Given the description of an element on the screen output the (x, y) to click on. 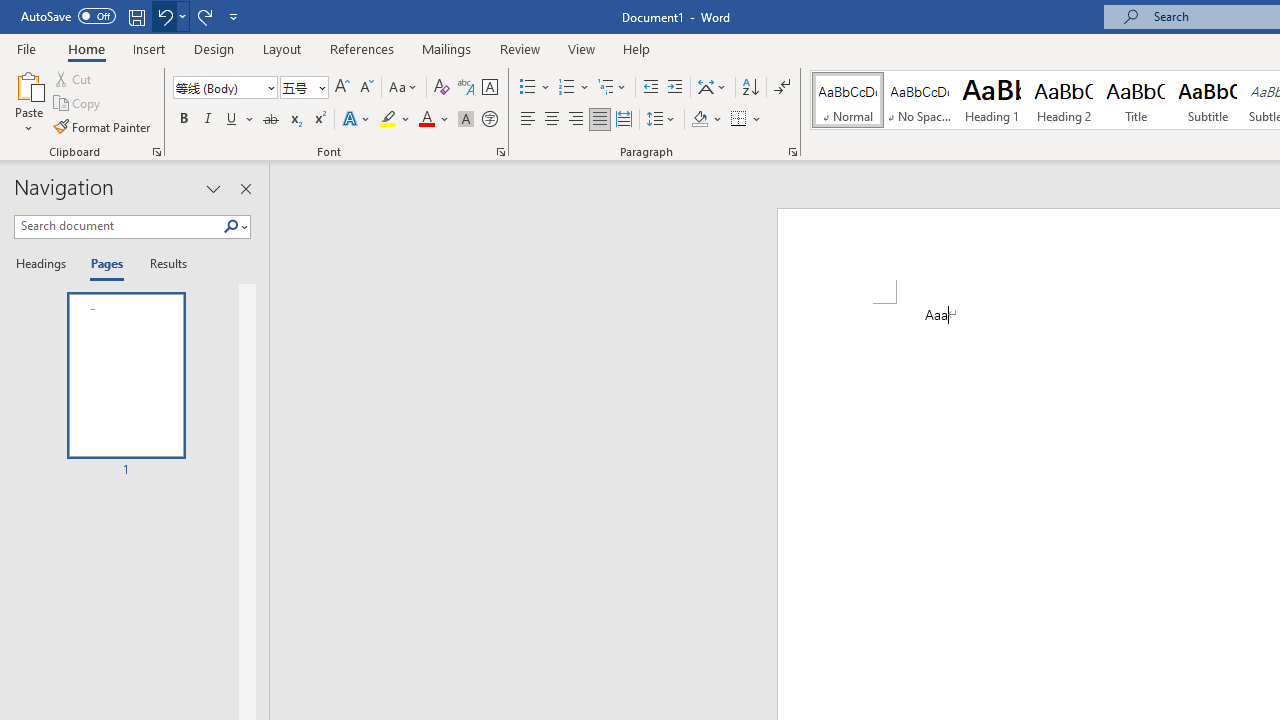
Increase Indent (675, 87)
Change Case (404, 87)
Shrink Font (365, 87)
Multilevel List (613, 87)
Center (552, 119)
Enclose Characters... (489, 119)
Paragraph... (792, 151)
